Given the description of an element on the screen output the (x, y) to click on. 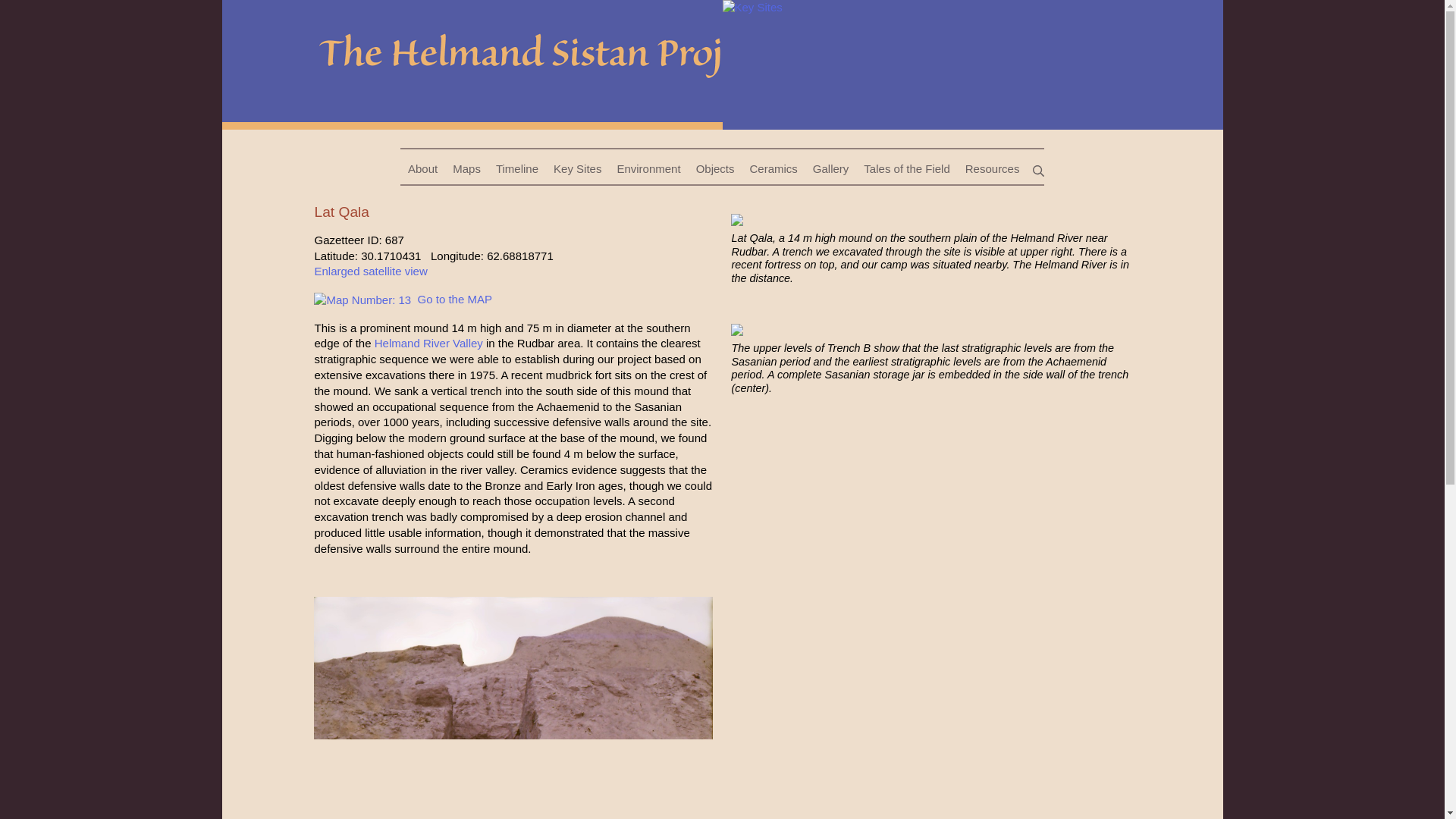
Resources (992, 169)
Maps (466, 169)
Tales of the Field (906, 169)
Lat Qala (972, 62)
Environment (647, 169)
Ceramics (773, 169)
Key Sites (577, 169)
Timeline (516, 169)
Objects (715, 169)
Gallery (831, 169)
About (422, 169)
Home (471, 62)
